Given the description of an element on the screen output the (x, y) to click on. 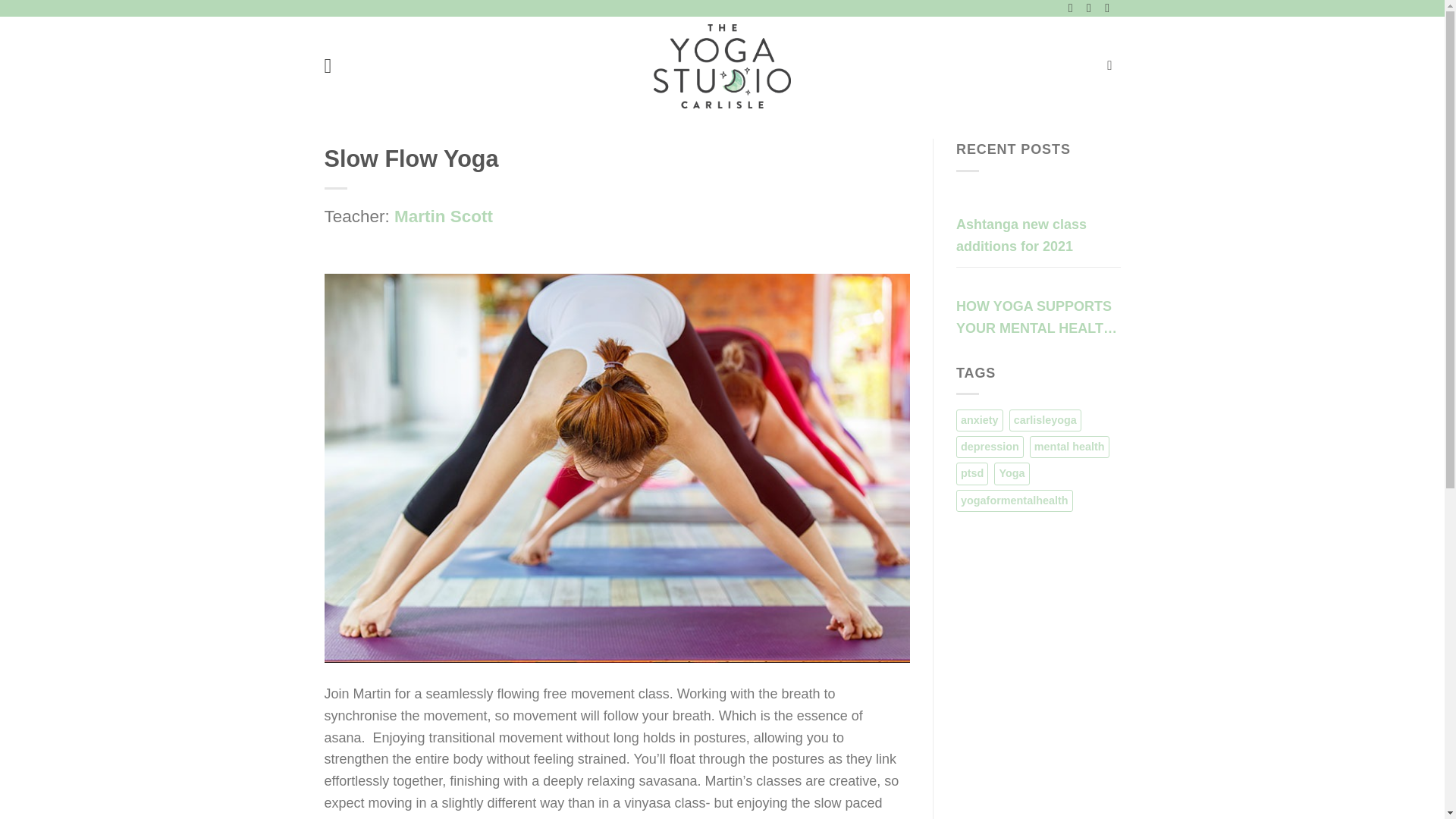
The Yoga Studio Carlisle - Yoga in Carlisle (721, 66)
ptsd (972, 473)
yogaformentalhealth (1014, 500)
mental health (1069, 446)
anxiety (979, 420)
carlisleyoga (1045, 420)
Martin Scott (443, 216)
Follow on Instagram (1092, 8)
Yoga (1011, 473)
Send us an email (1110, 8)
